Given the description of an element on the screen output the (x, y) to click on. 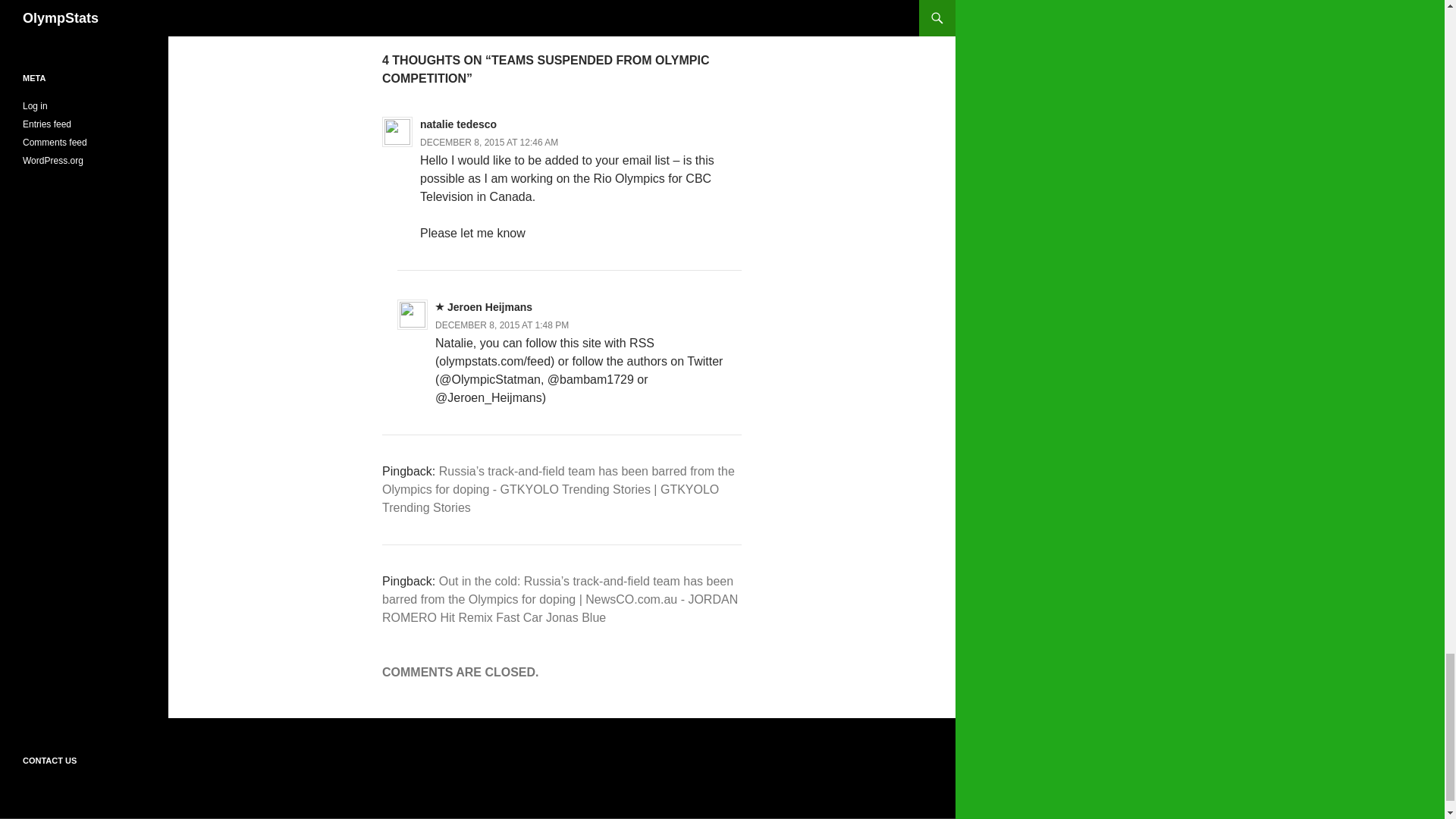
DECEMBER 8, 2015 AT 1:48 PM (561, 7)
DECEMBER 8, 2015 AT 12:46 AM (502, 325)
